Given the description of an element on the screen output the (x, y) to click on. 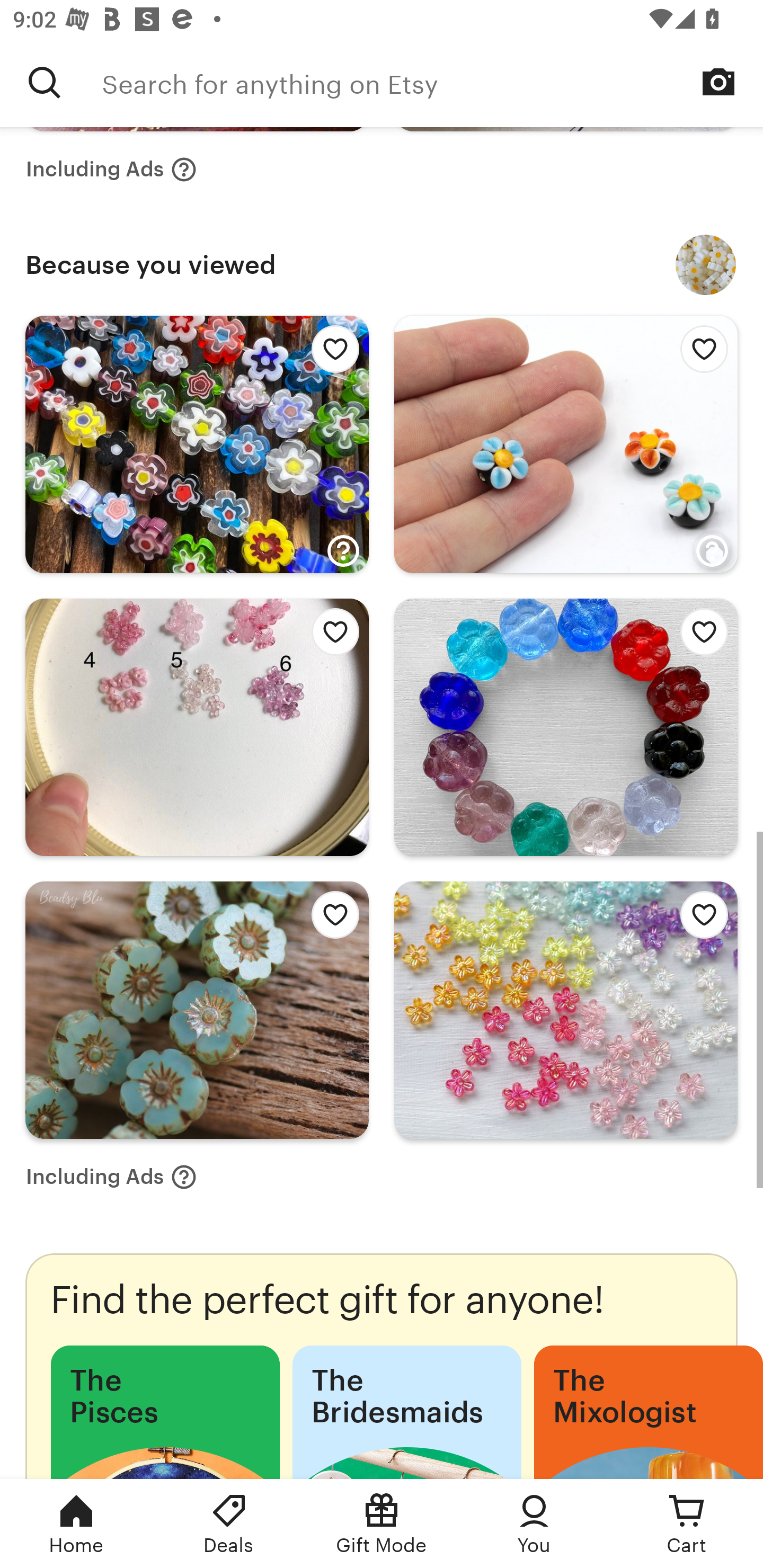
Search for anything on Etsy (44, 82)
Search by image (718, 81)
Search for anything on Etsy (432, 82)
Including Ads (111, 168)
Millefiori Glass Daisy Flower Beads (705, 264)
Including Ads (111, 1176)
Find the perfect gift for anyone! (381, 1365)
The Pisces (165, 1411)
The Bridesmaids (406, 1411)
The Mixologist (648, 1411)
Deals (228, 1523)
Gift Mode (381, 1523)
You (533, 1523)
Cart (686, 1523)
